Given the description of an element on the screen output the (x, y) to click on. 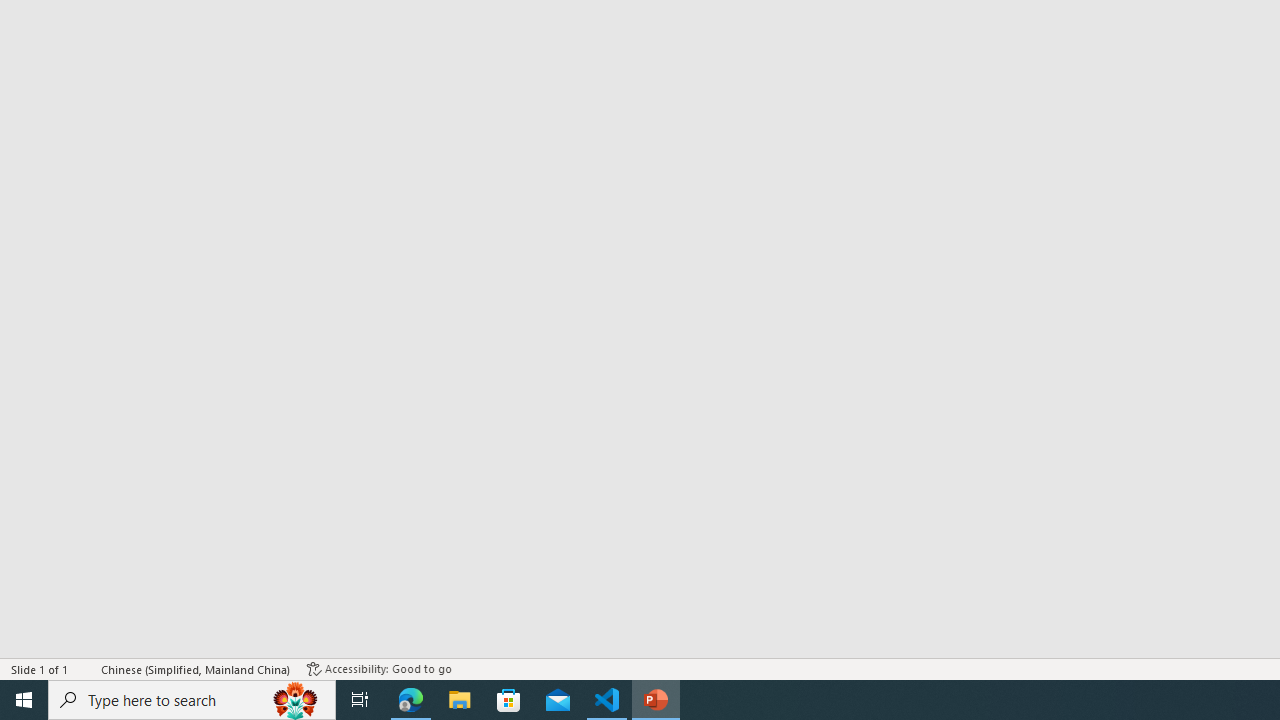
Spell Check  (86, 668)
